Given the description of an element on the screen output the (x, y) to click on. 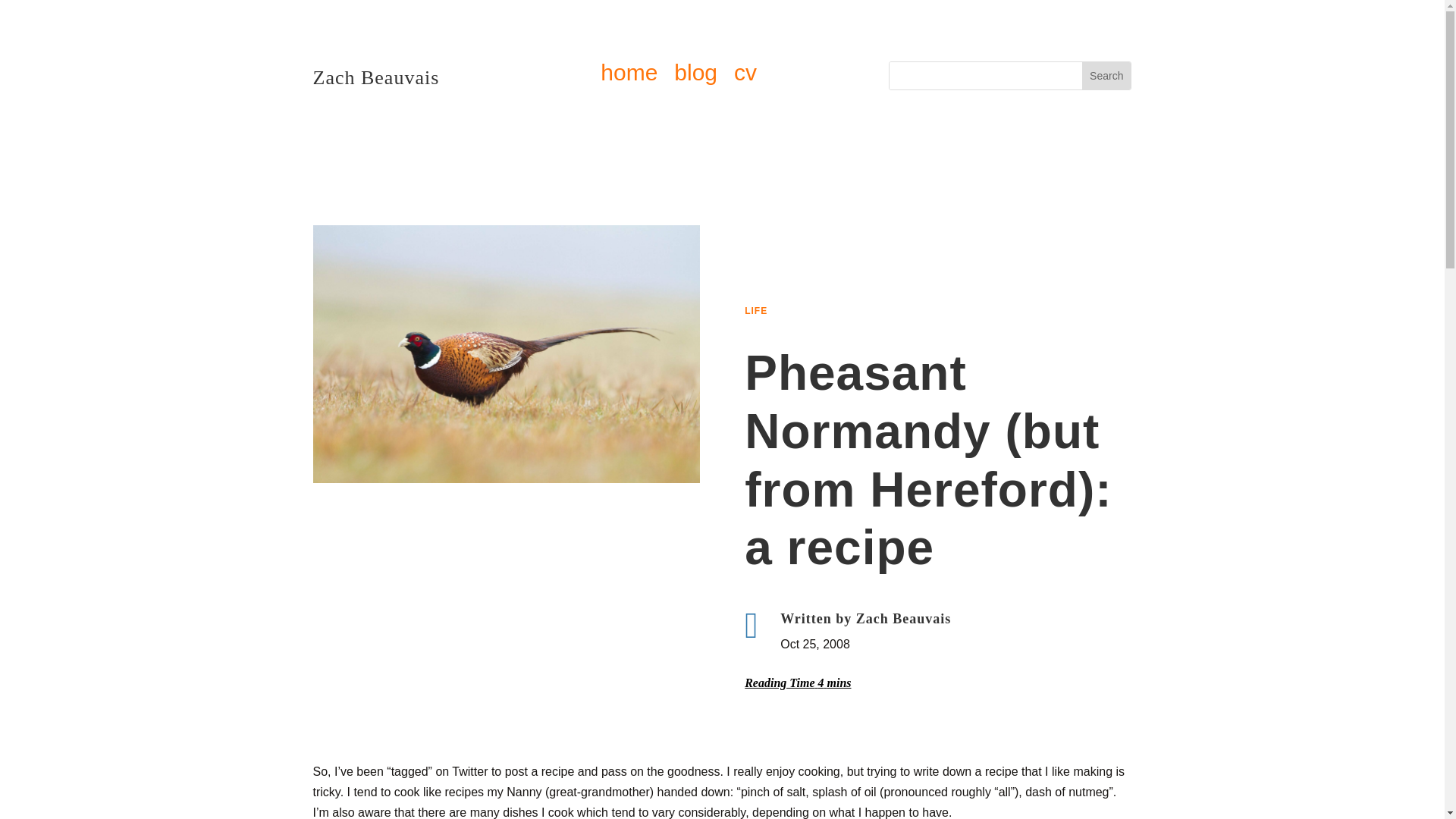
Zach Beauvais (904, 618)
blog (695, 75)
Search (1106, 75)
Search (1106, 75)
home (628, 75)
cv (745, 75)
LIFE (755, 310)
Search (1106, 75)
